Given the description of an element on the screen output the (x, y) to click on. 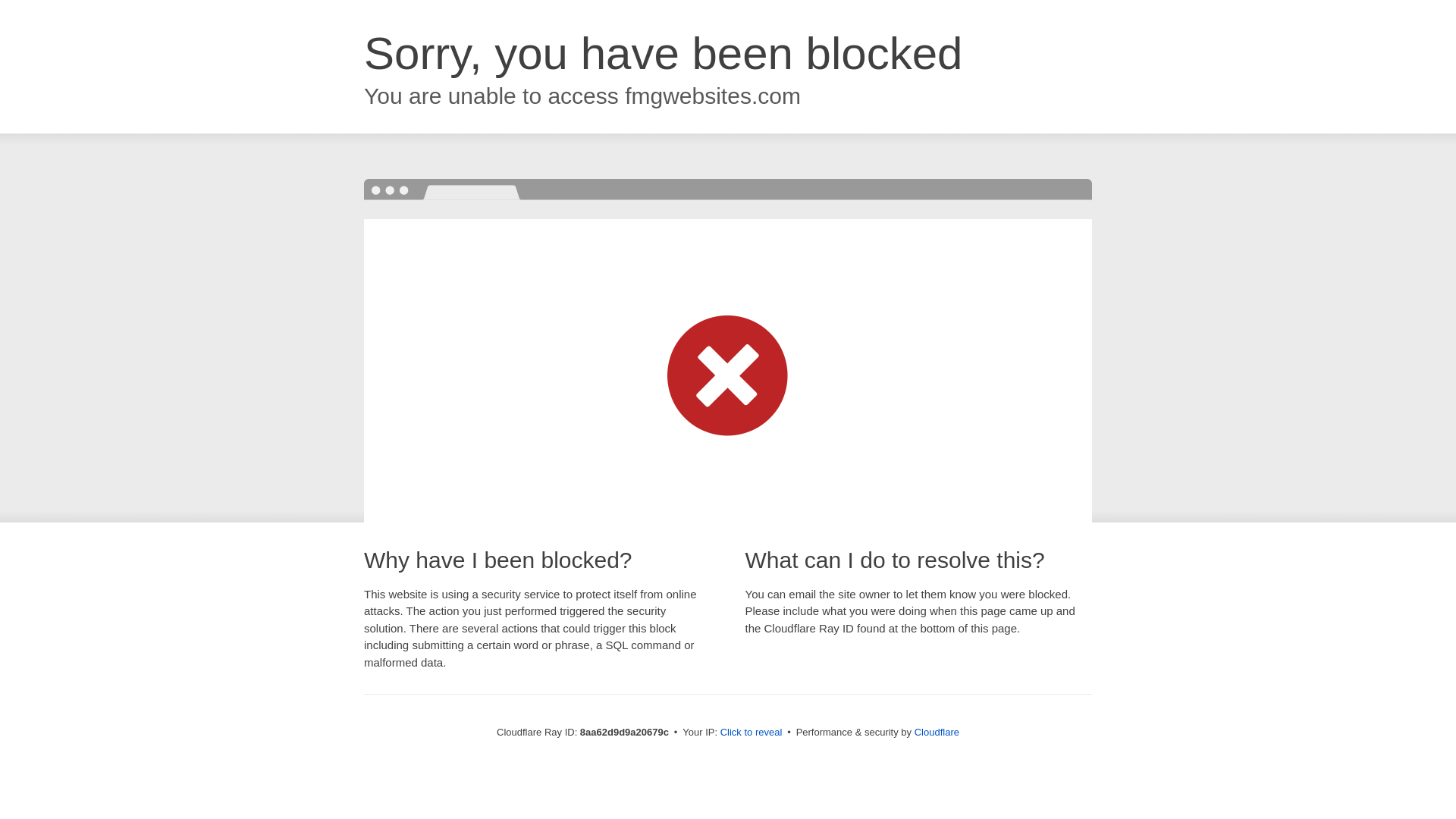
Cloudflare (936, 731)
Click to reveal (751, 732)
